Given the description of an element on the screen output the (x, y) to click on. 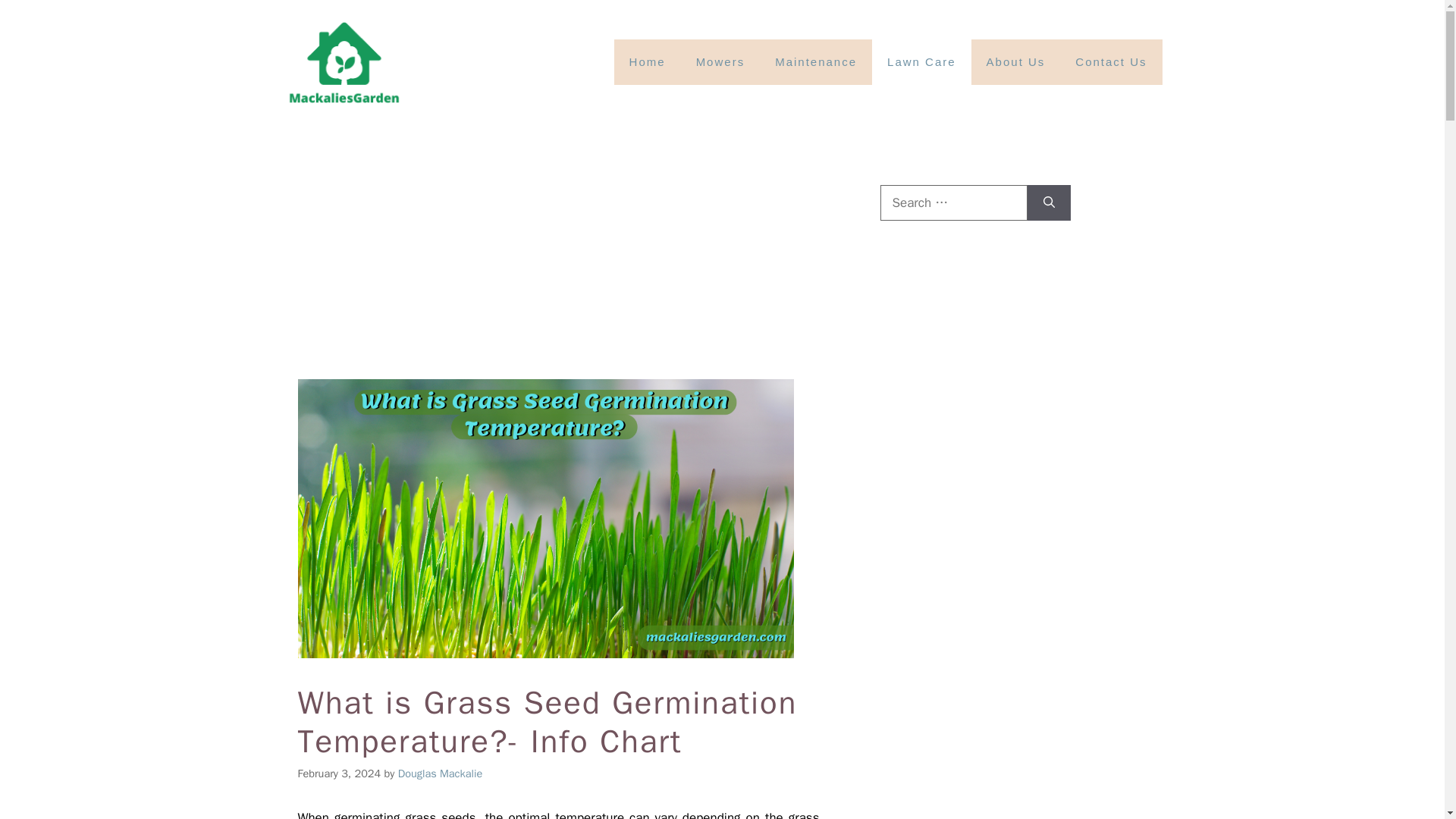
Maintenance (816, 62)
Search for: (952, 203)
View all posts by Douglas Mackalie (440, 773)
About Us (1016, 62)
Home (647, 62)
Contact Us (1110, 62)
Advertisement (575, 266)
Douglas Mackalie (440, 773)
Mowers (720, 62)
Lawn Care (921, 62)
